Given the description of an element on the screen output the (x, y) to click on. 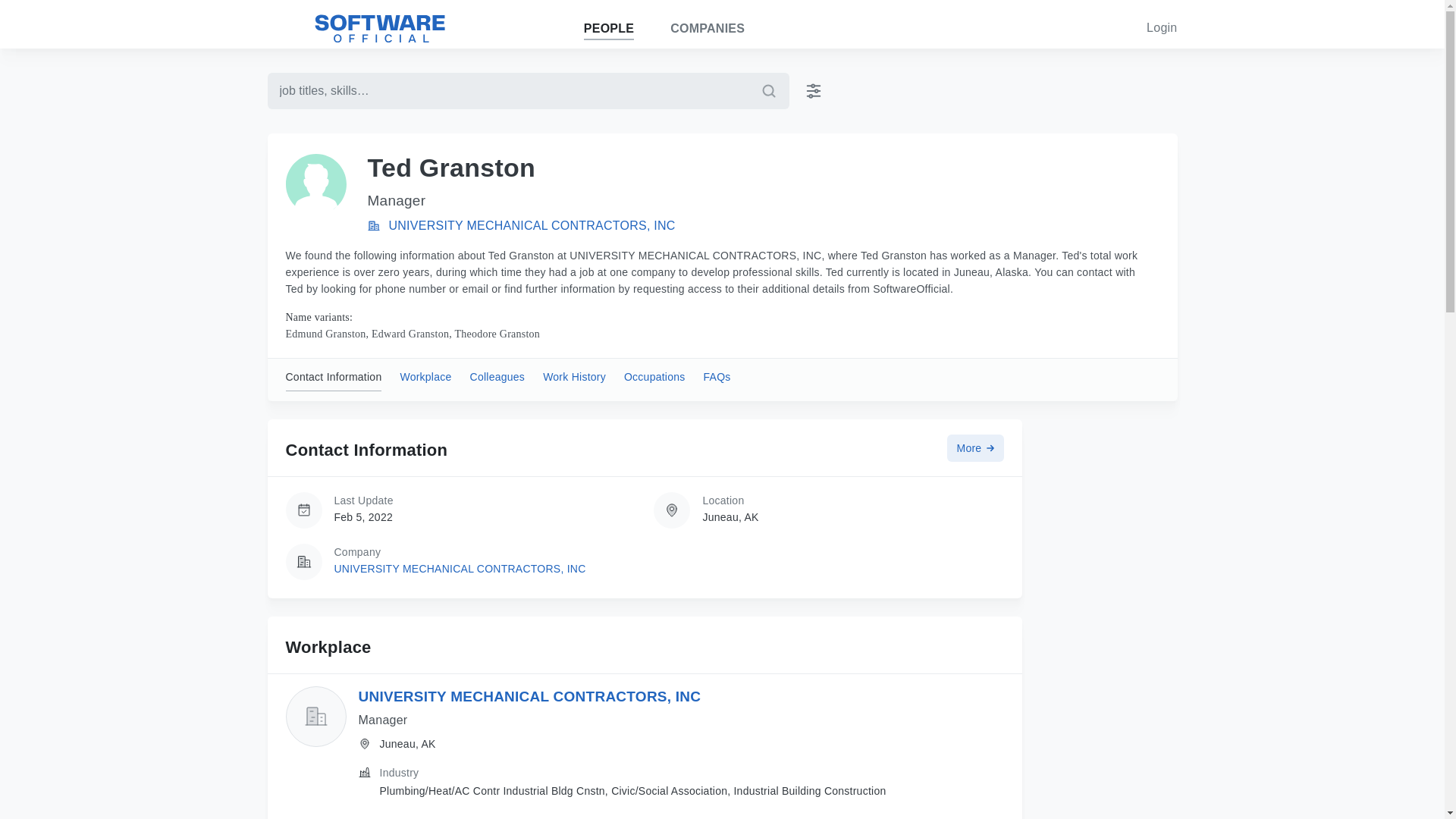
FAQs (716, 379)
UNIVERSITY MECHANICAL CONTRACTORS, INC (529, 696)
Occupations (654, 379)
More (975, 447)
COMPANIES (706, 28)
Colleagues (497, 379)
UNIVERSITY MECHANICAL CONTRACTORS, INC (531, 225)
Work History (574, 379)
Workplace (424, 379)
UNIVERSITY MECHANICAL CONTRACTORS, INC (459, 568)
Login (1161, 27)
Contact Information (333, 379)
